Given the description of an element on the screen output the (x, y) to click on. 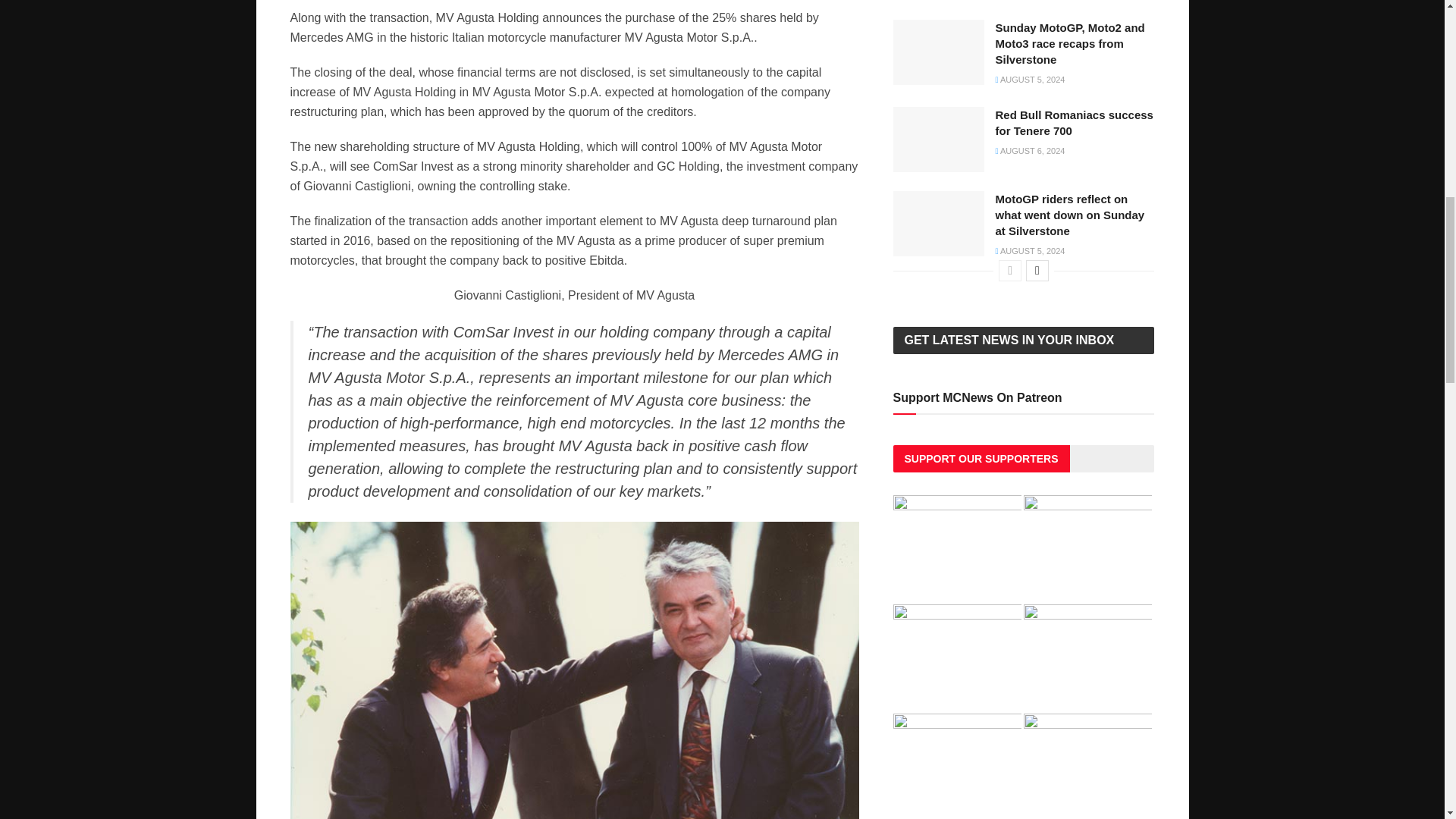
Previous (1010, 270)
Next (1037, 270)
